Given the description of an element on the screen output the (x, y) to click on. 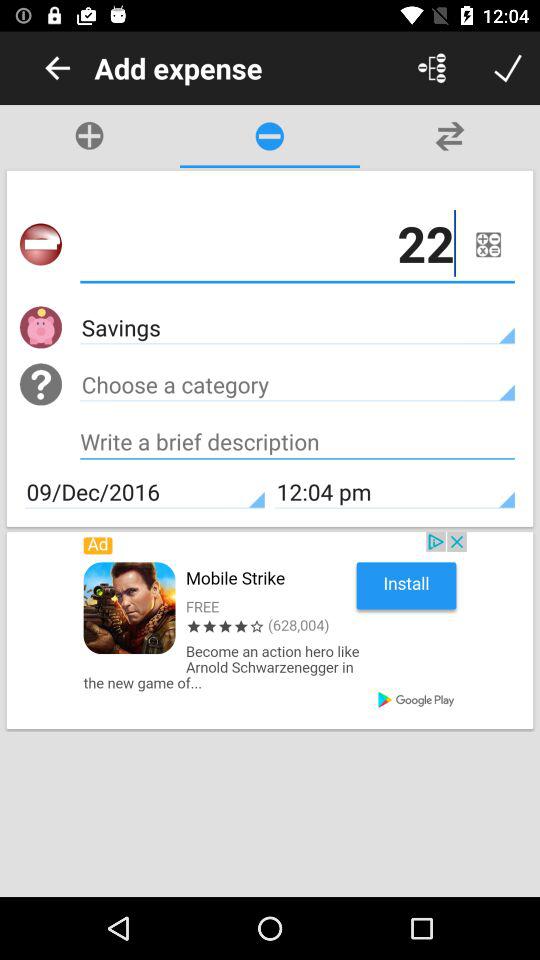
go to menu (431, 67)
